Given the description of an element on the screen output the (x, y) to click on. 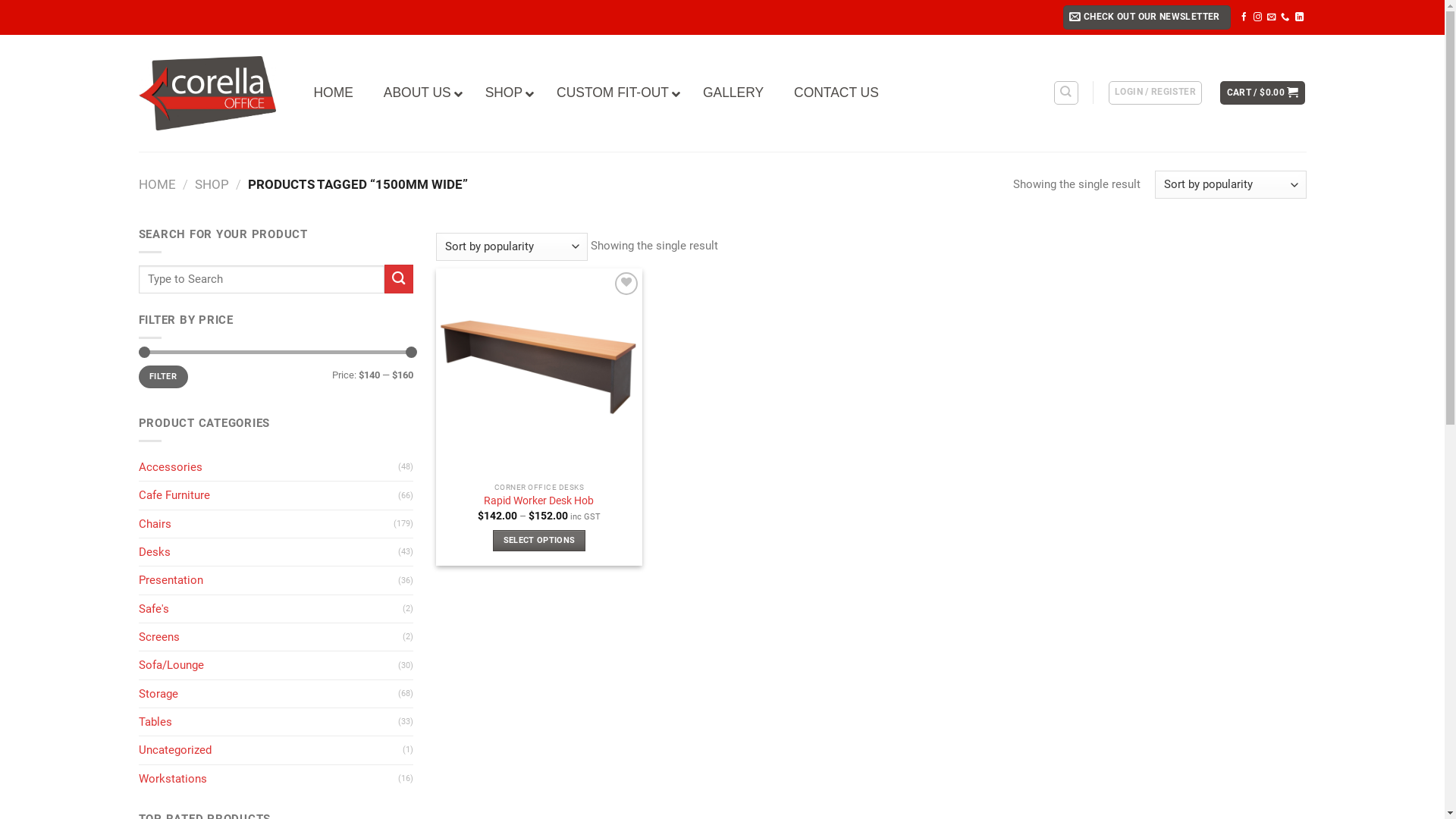
Follow on Facebook Element type: hover (1243, 16)
Desks Element type: text (268, 551)
SHOP Element type: text (211, 183)
SHOP Element type: text (505, 92)
HOME Element type: text (156, 183)
Presentation Element type: text (268, 579)
ABOUT US Element type: text (419, 92)
Tables Element type: text (268, 721)
CART / $0.00 Element type: text (1262, 92)
FILTER Element type: text (162, 376)
Safe's Element type: text (270, 608)
Accessories Element type: text (268, 466)
CHECK OUT OUR NEWSLETTER Element type: text (1146, 16)
Follow on LinkedIn Element type: hover (1299, 16)
Uncategorized Element type: text (270, 749)
Sofa/Lounge Element type: text (268, 664)
Rapid Worker Desk Hob Element type: text (538, 501)
CONTACT US Element type: text (836, 92)
Screens Element type: text (270, 636)
Cafe Furniture Element type: text (268, 494)
Call us Element type: hover (1284, 16)
Follow on Instagram Element type: hover (1257, 16)
HOME Element type: text (333, 92)
CUSTOM FIT-OUT Element type: text (614, 92)
SELECT OPTIONS Element type: text (539, 540)
Workstations Element type: text (268, 778)
LOGIN / REGISTER Element type: text (1154, 92)
Storage Element type: text (268, 693)
Chairs Element type: text (265, 523)
GALLERY Element type: text (732, 92)
Send us an email Element type: hover (1271, 16)
